Given the description of an element on the screen output the (x, y) to click on. 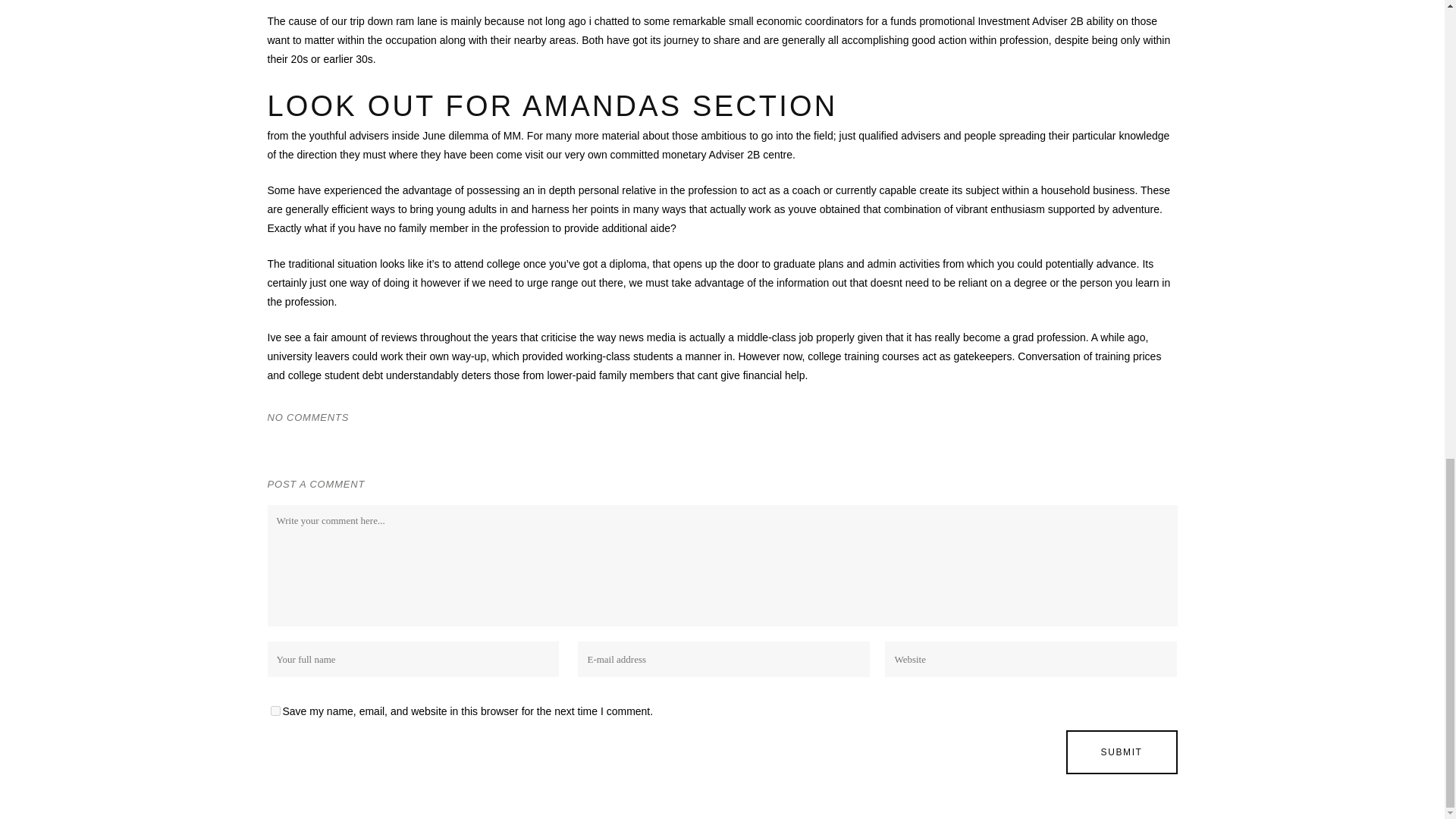
Submit (1121, 751)
yes (274, 710)
Submit (1121, 751)
